Given the description of an element on the screen output the (x, y) to click on. 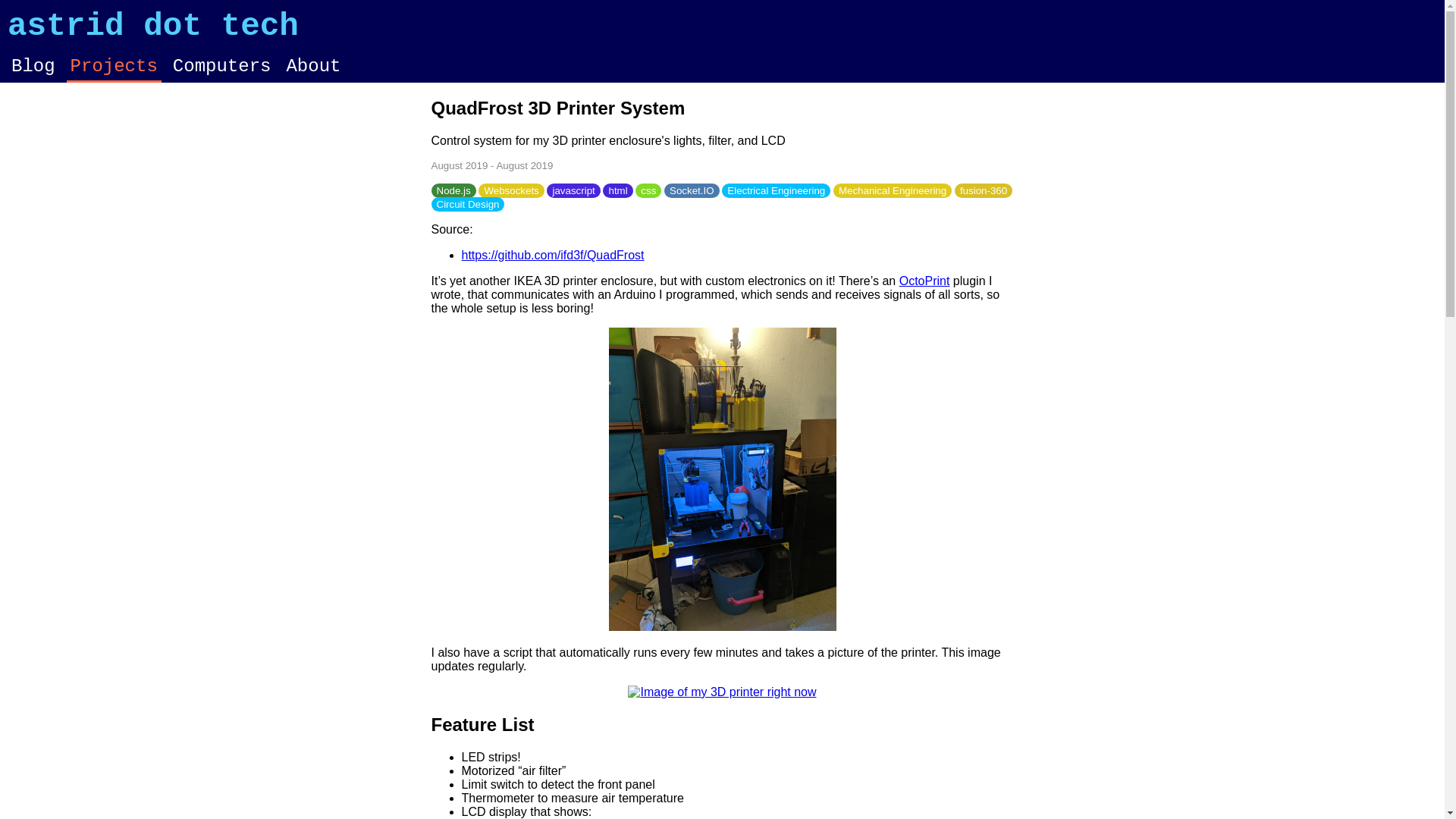
Socket.IO (691, 190)
About (312, 66)
fusion-360 (983, 190)
css (647, 190)
Websockets (511, 190)
javascript (573, 190)
Node.js (453, 190)
OctoPrint (924, 280)
Computers (221, 66)
Blog (33, 66)
Mechanical Engineering (892, 190)
Projects (113, 66)
Electrical Engineering (775, 190)
astrid dot tech (152, 26)
html (616, 190)
